Given the description of an element on the screen output the (x, y) to click on. 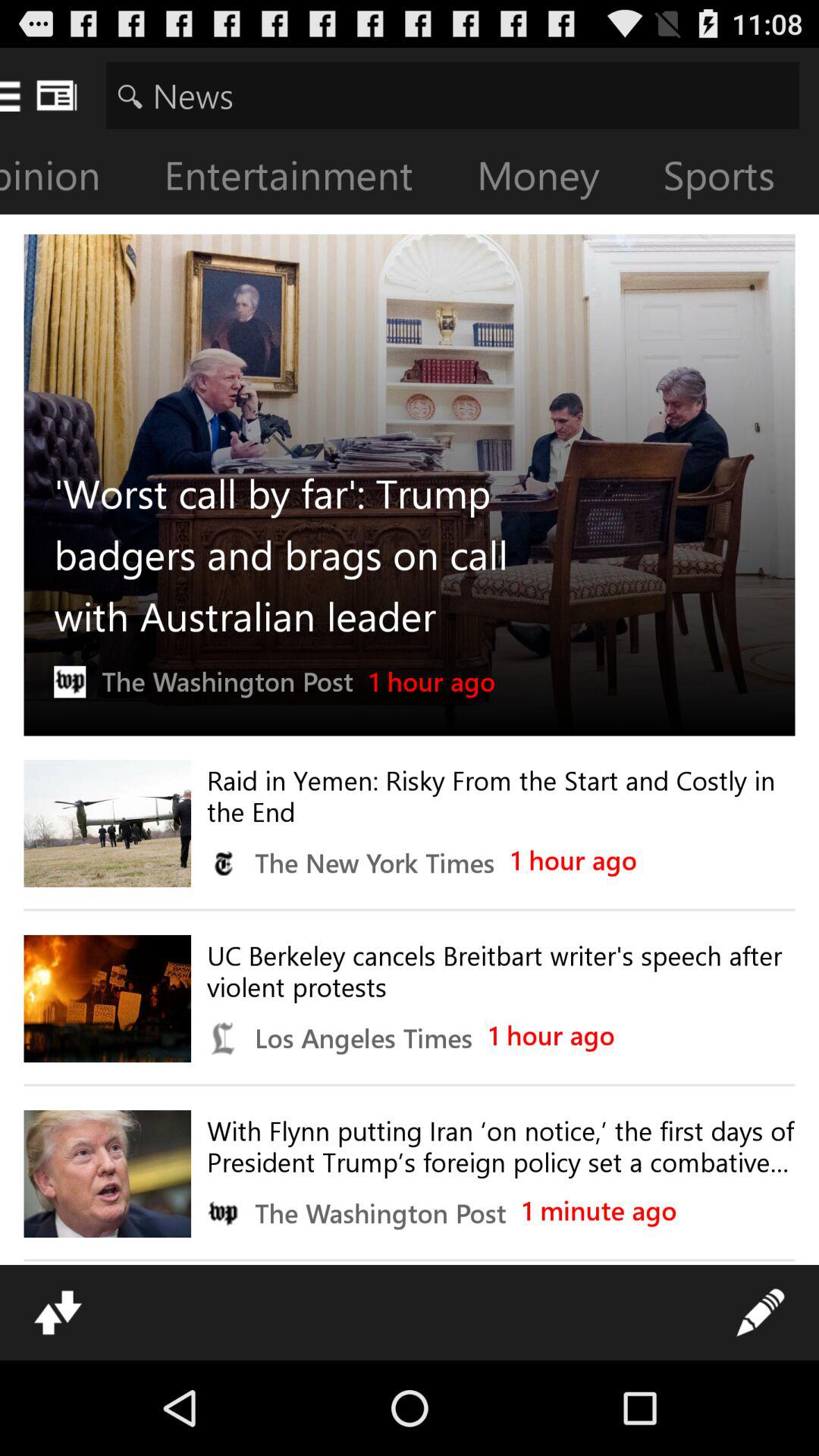
launch the sports (731, 178)
